Given the description of an element on the screen output the (x, y) to click on. 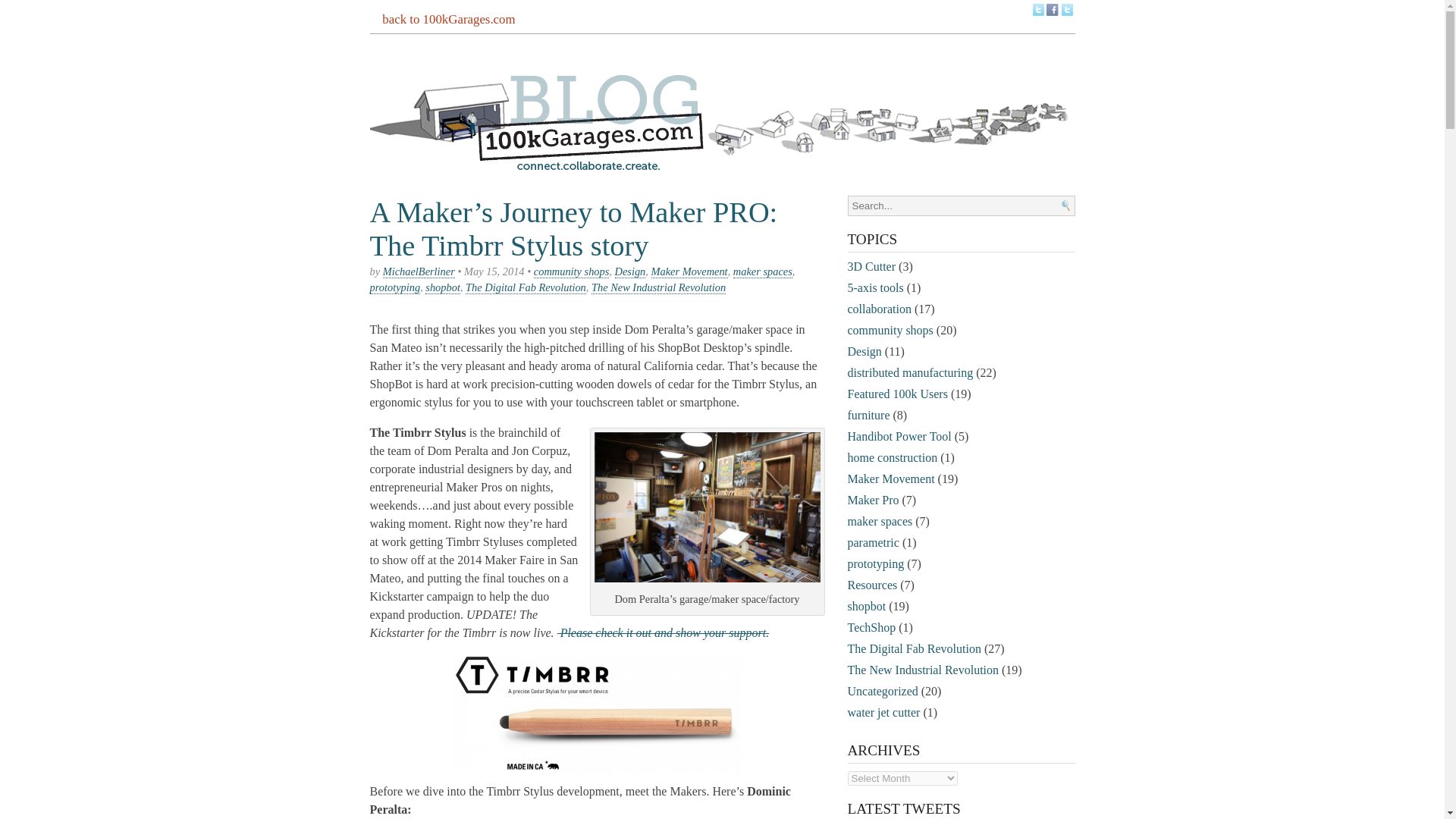
5-axis tools (875, 287)
The New Industrial Revolution (658, 287)
collaboration (879, 308)
back to 100kGarages.com (448, 20)
community shops (572, 271)
3D Cutter (871, 266)
shopbot (442, 287)
Maker Movement (689, 271)
Posts by MichaelBerliner (418, 271)
Design (630, 271)
